Given the description of an element on the screen output the (x, y) to click on. 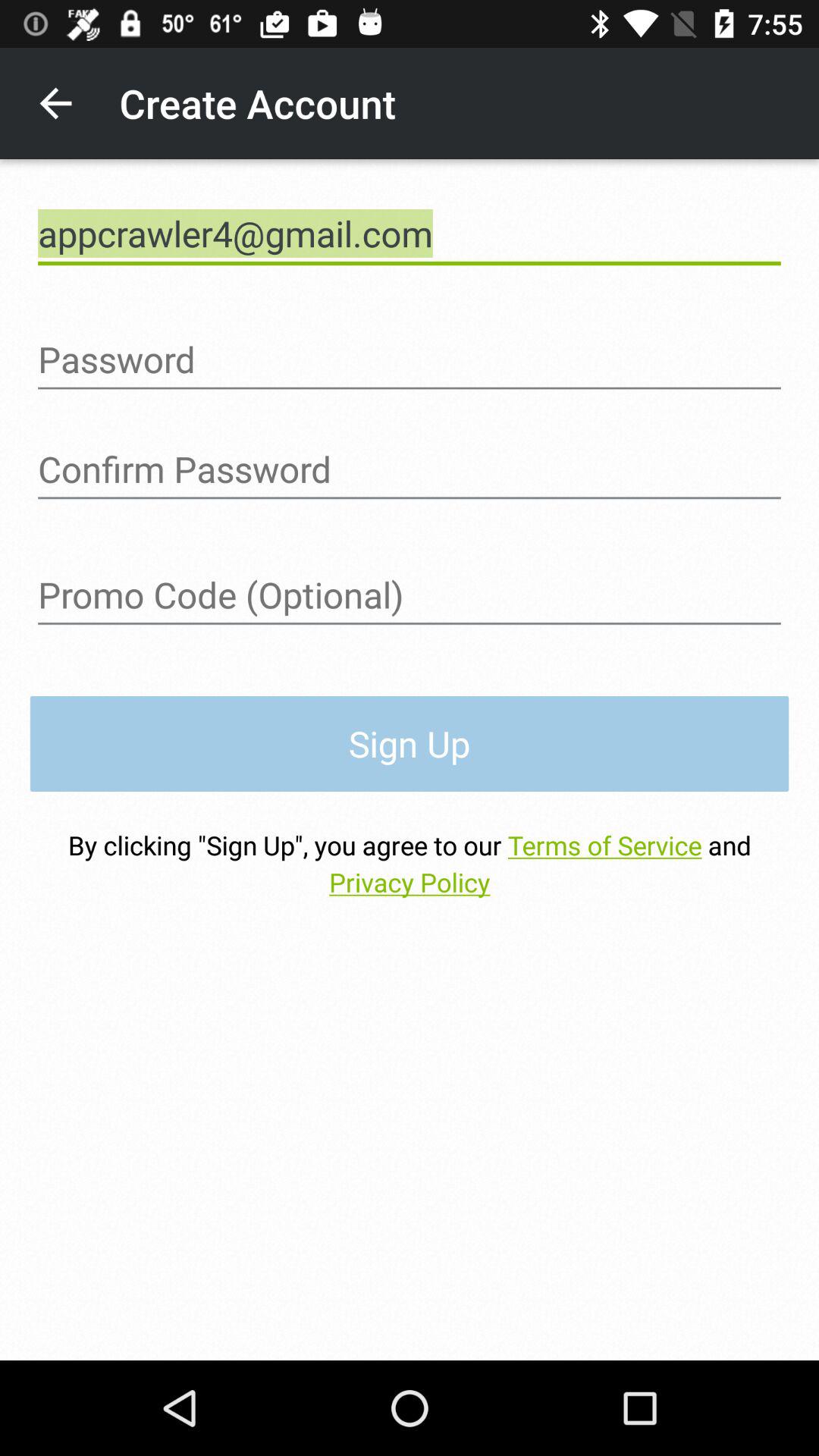
enter password (409, 359)
